Given the description of an element on the screen output the (x, y) to click on. 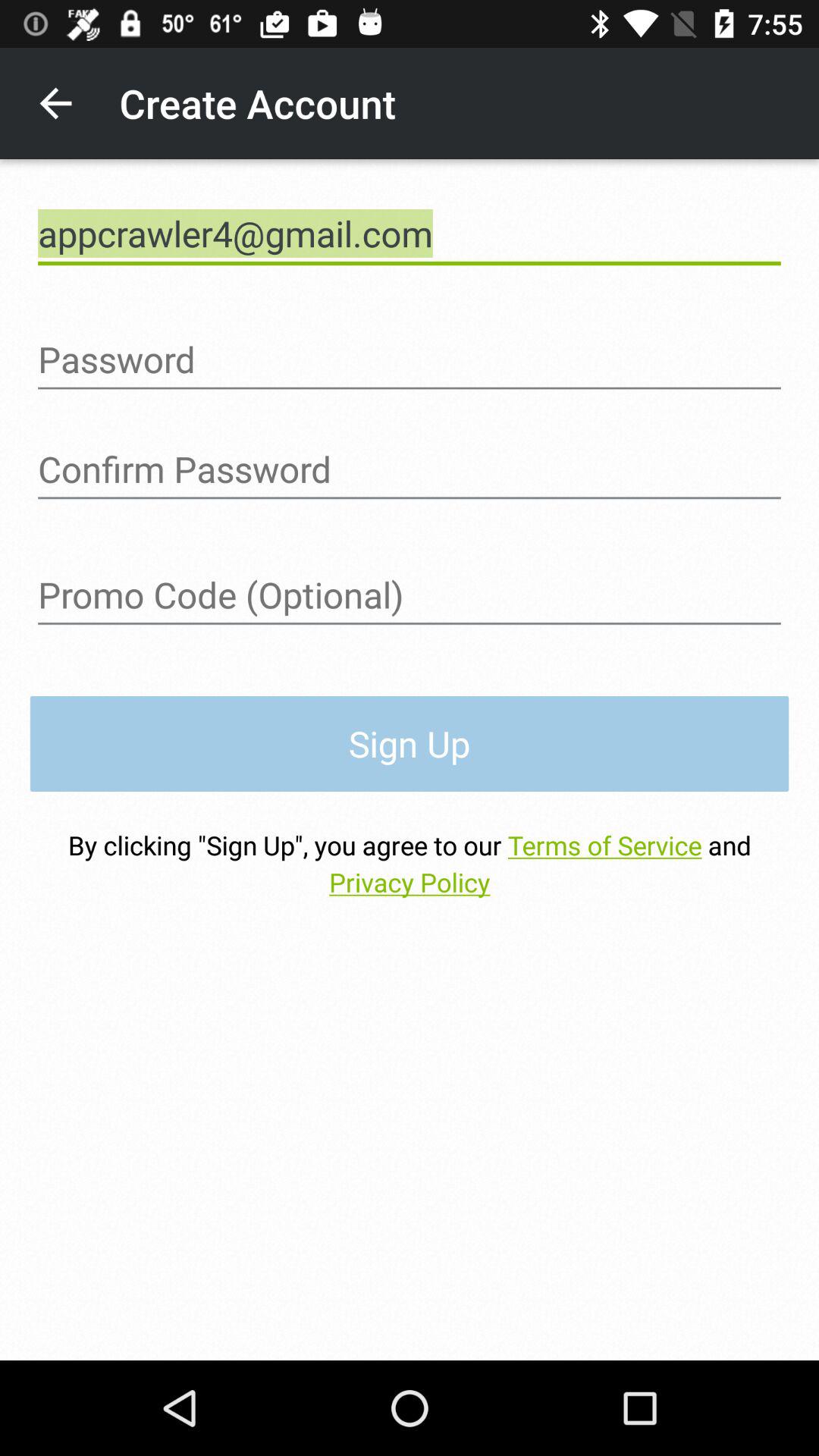
enter password (409, 359)
